Given the description of an element on the screen output the (x, y) to click on. 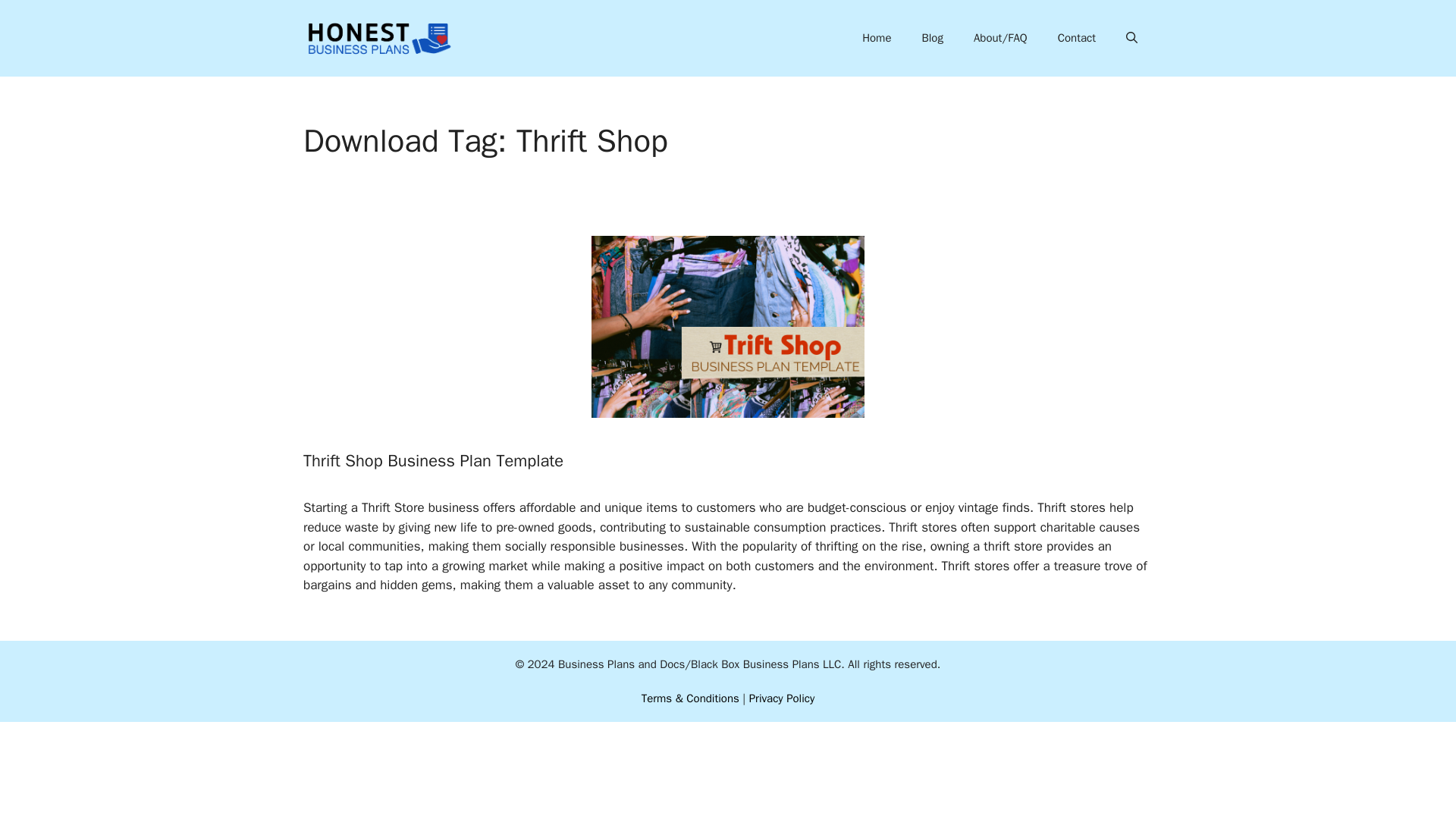
Privacy Policy (782, 698)
Blog (931, 37)
Home (876, 37)
Contact (1076, 37)
Thrift Shop Business Plan Template (432, 460)
